Given the description of an element on the screen output the (x, y) to click on. 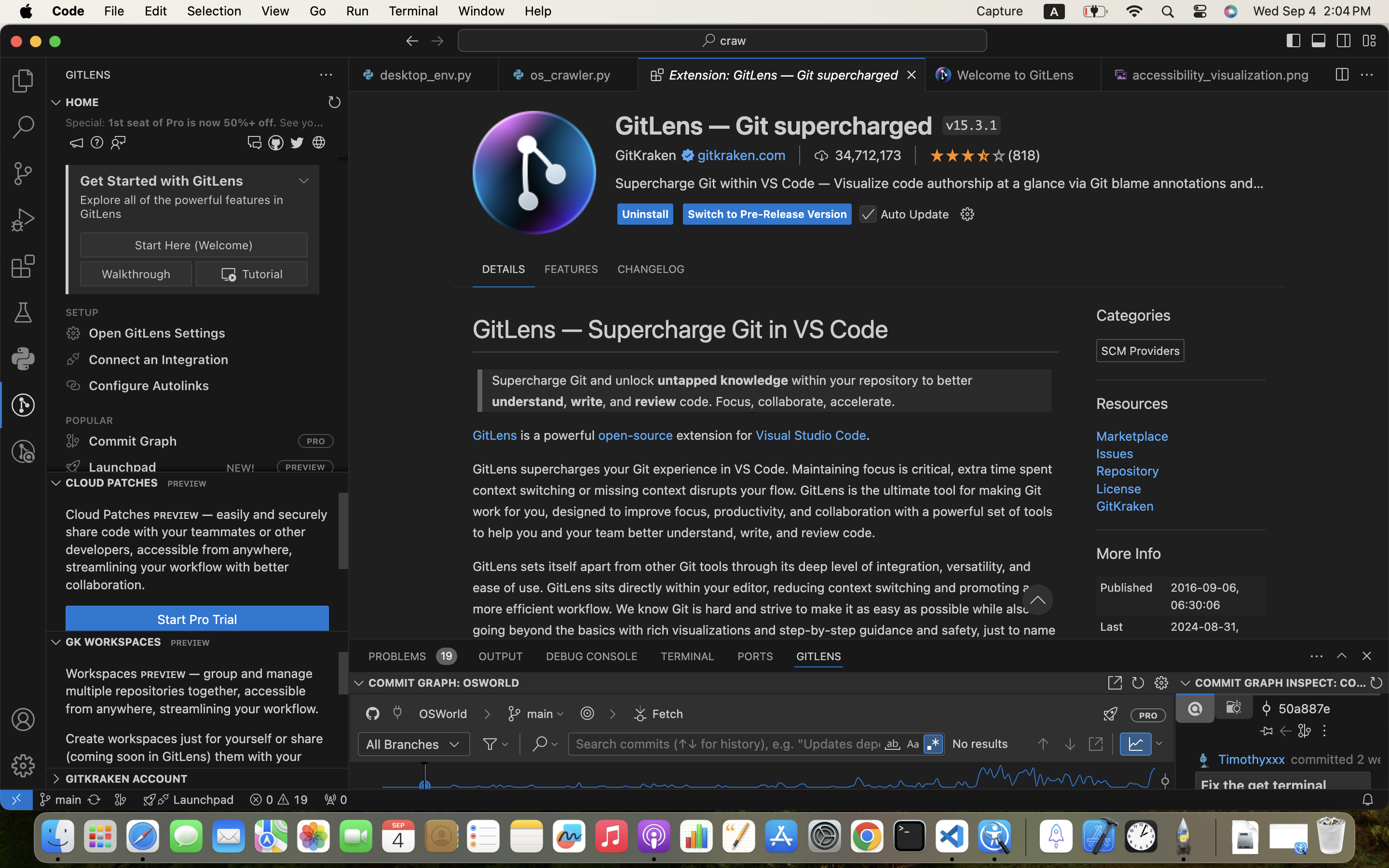
 Element type: AXButton (412, 40)
main  Element type: AXButton (59, 799)
Extension: GitLens — Git supercharged Element type: AXStaticText (783, 74)
Last released Element type: AXStaticText (1122, 628)
Release notes Element type: AXStaticText (1328, 142)
